Given the description of an element on the screen output the (x, y) to click on. 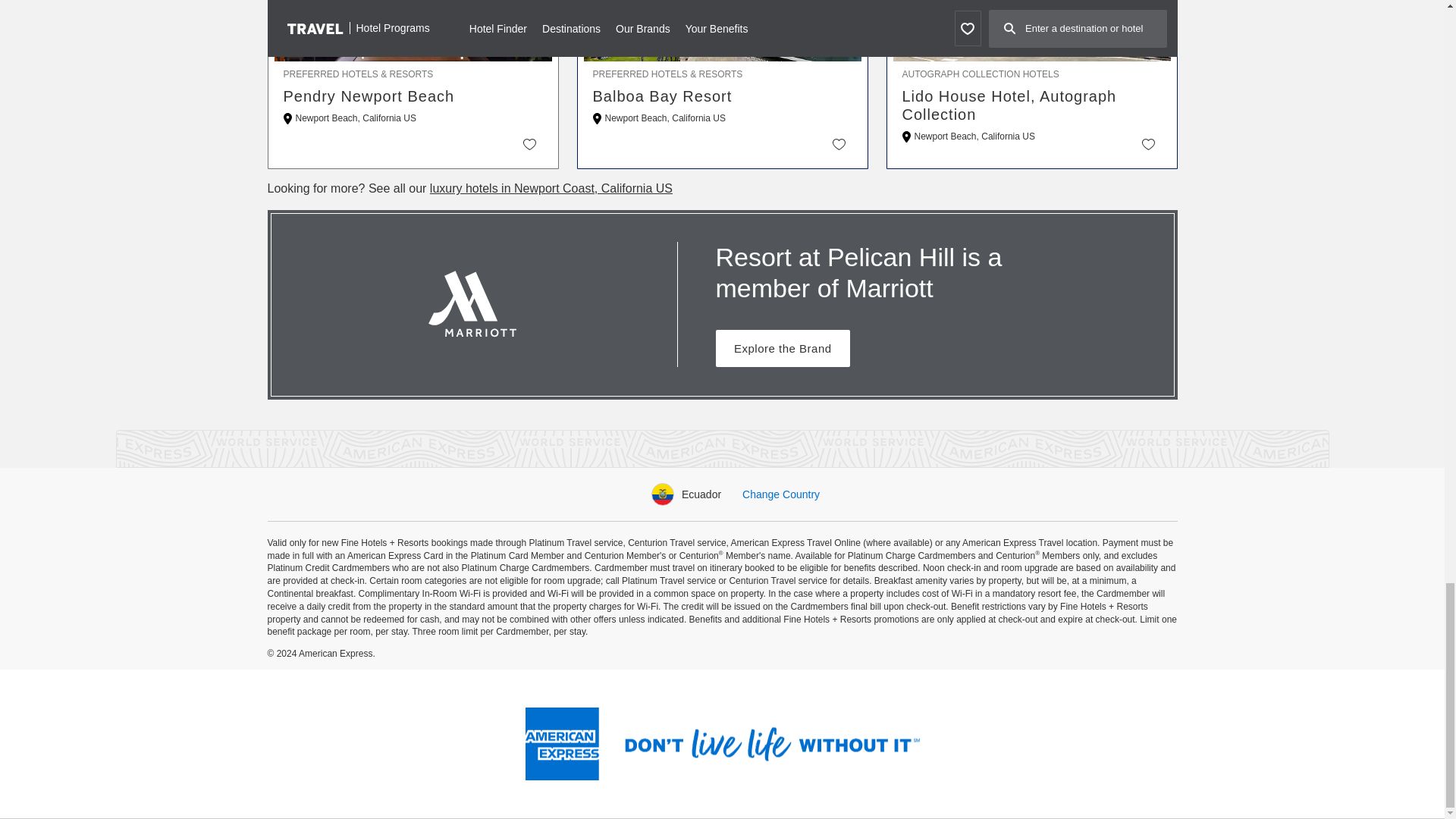
Lido House Hotel, Autograph Collection (1031, 104)
luxury hotels in Newport Coast, California US (550, 187)
Pendry Newport Beach (413, 95)
Balboa Bay Resort (721, 95)
Explore the Brand (783, 348)
Change Country (780, 494)
